Given the description of an element on the screen output the (x, y) to click on. 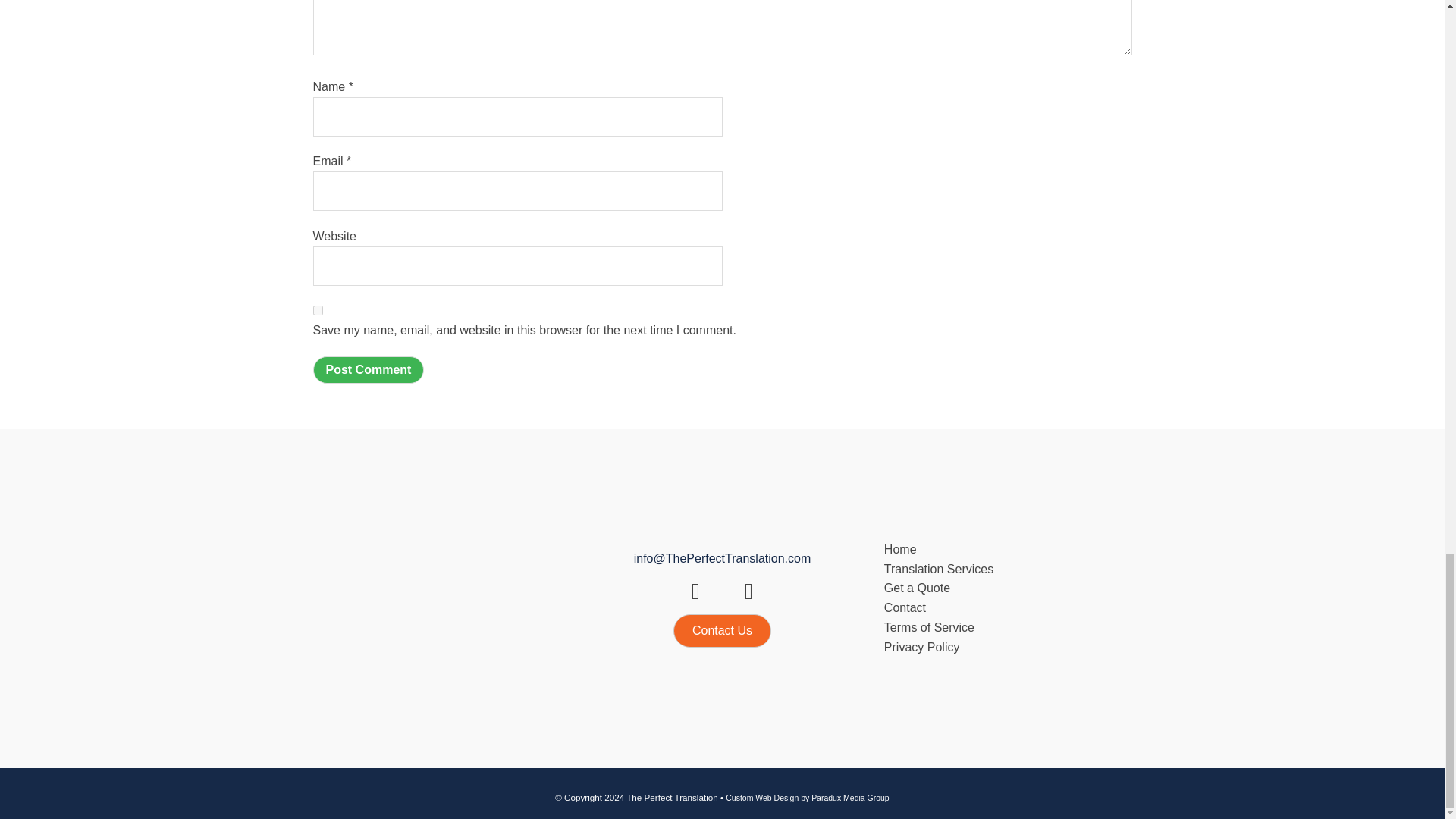
Home (1000, 549)
Paradux Media Group Custom Web Design (806, 797)
yes (317, 310)
Privacy Policy (1000, 647)
Post Comment (368, 370)
Translation Services (1000, 569)
Custom Web Design by Paradux Media Group (806, 797)
Contact Us (721, 630)
Post Comment (368, 370)
Contact (1000, 608)
